Given the description of an element on the screen output the (x, y) to click on. 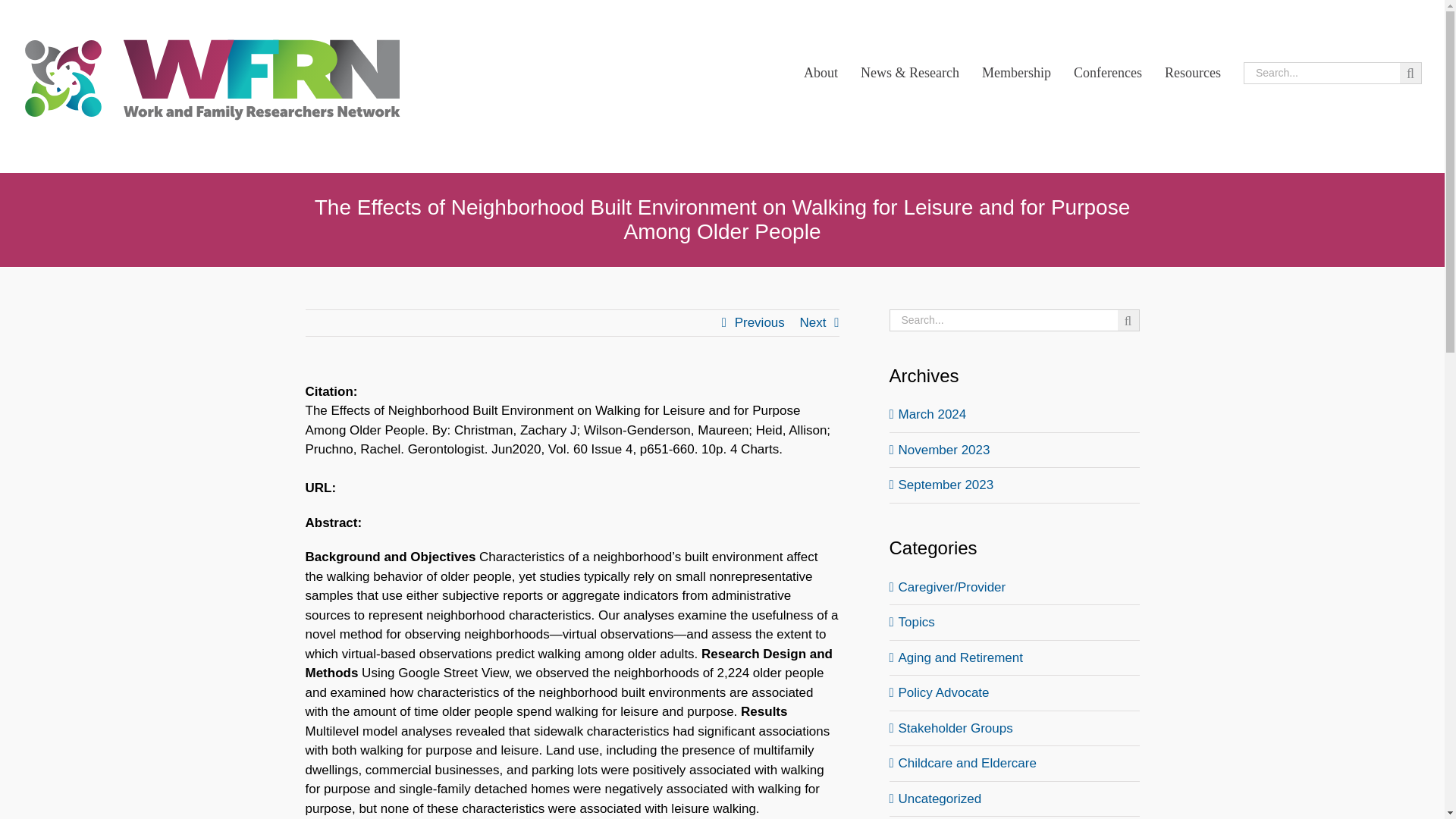
Membership (1016, 72)
Conferences (1107, 72)
